Given the description of an element on the screen output the (x, y) to click on. 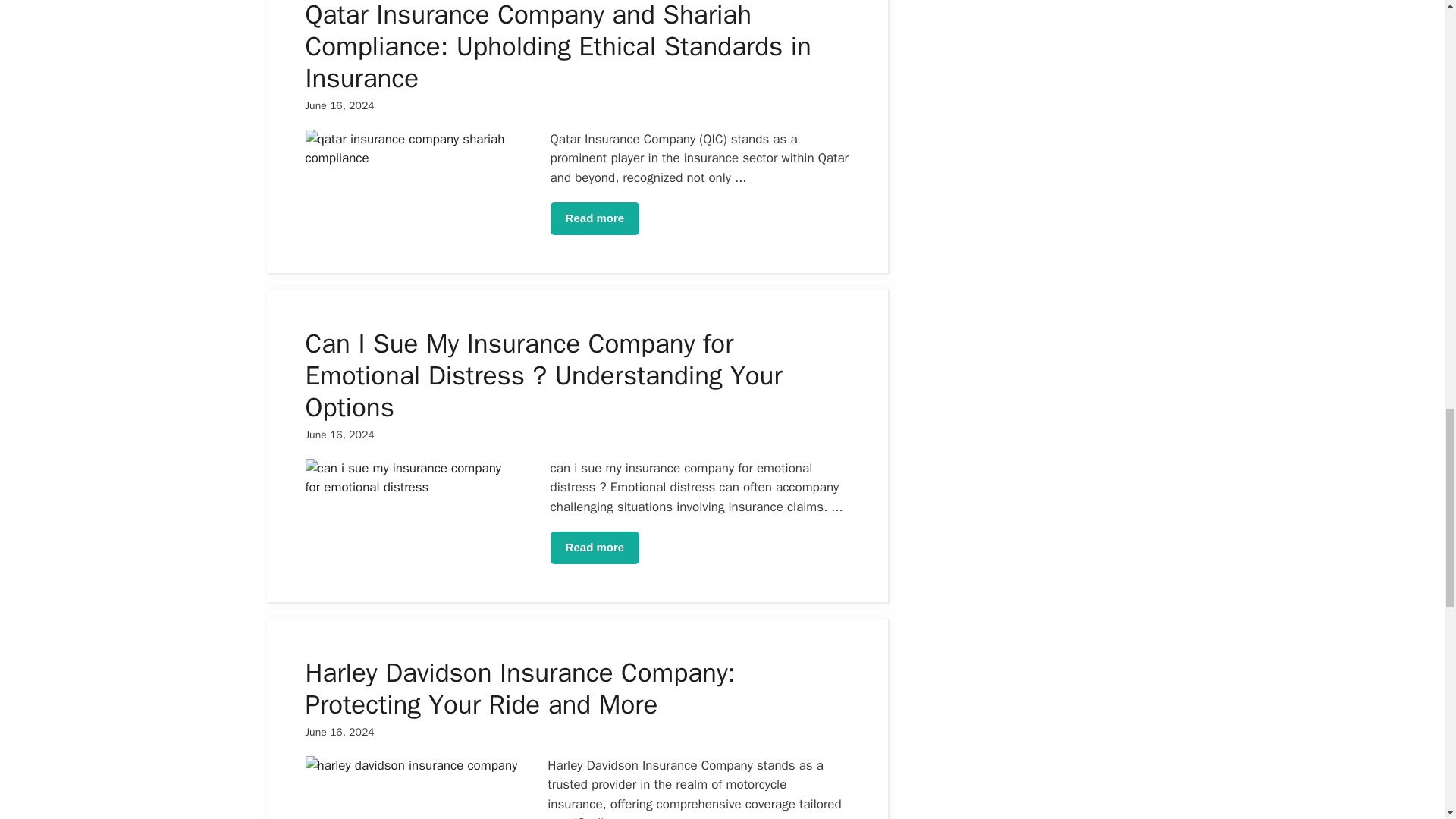
Read more (595, 218)
Read more (595, 547)
